Given the description of an element on the screen output the (x, y) to click on. 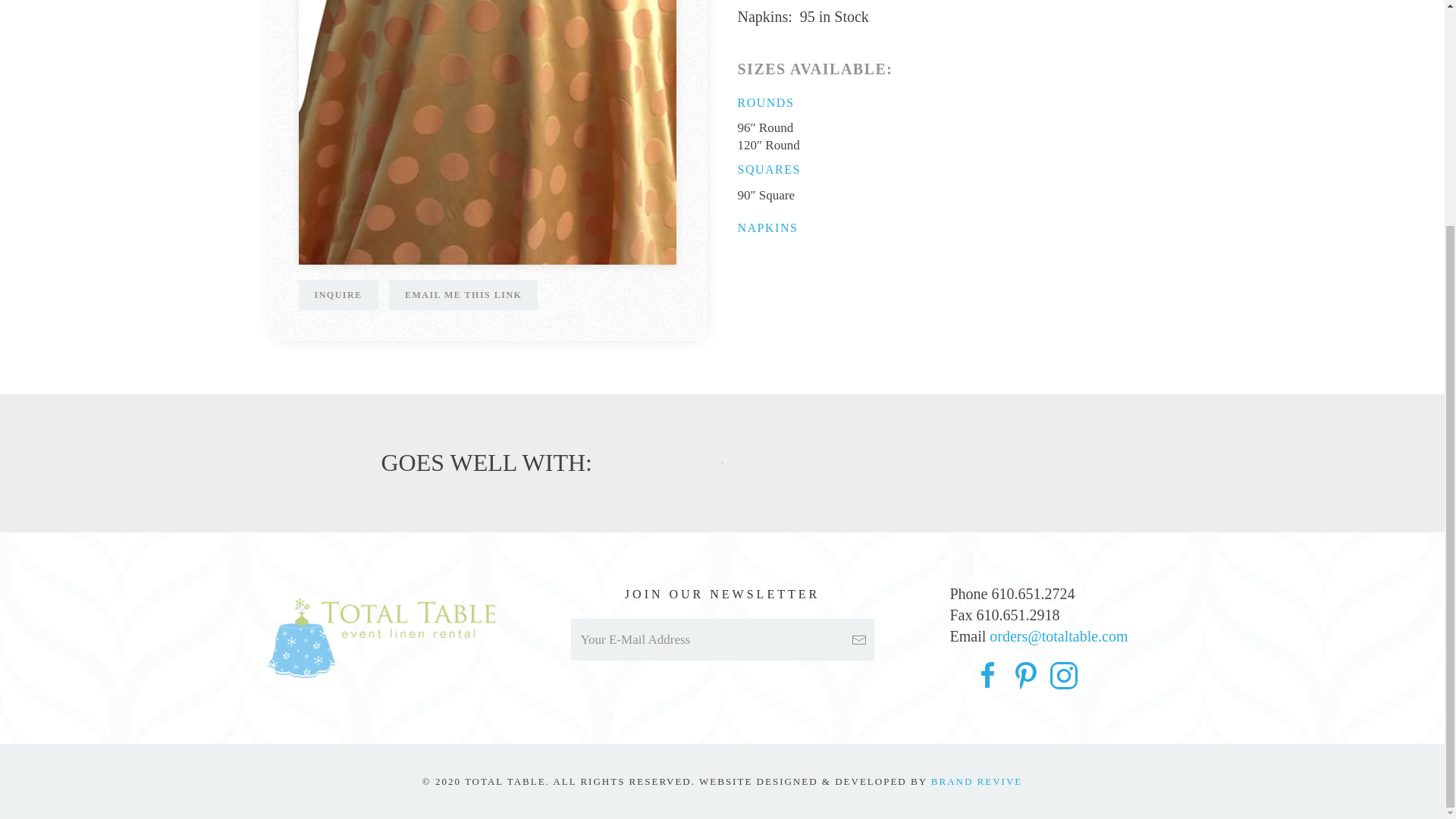
INQUIRE (338, 295)
